Given the description of an element on the screen output the (x, y) to click on. 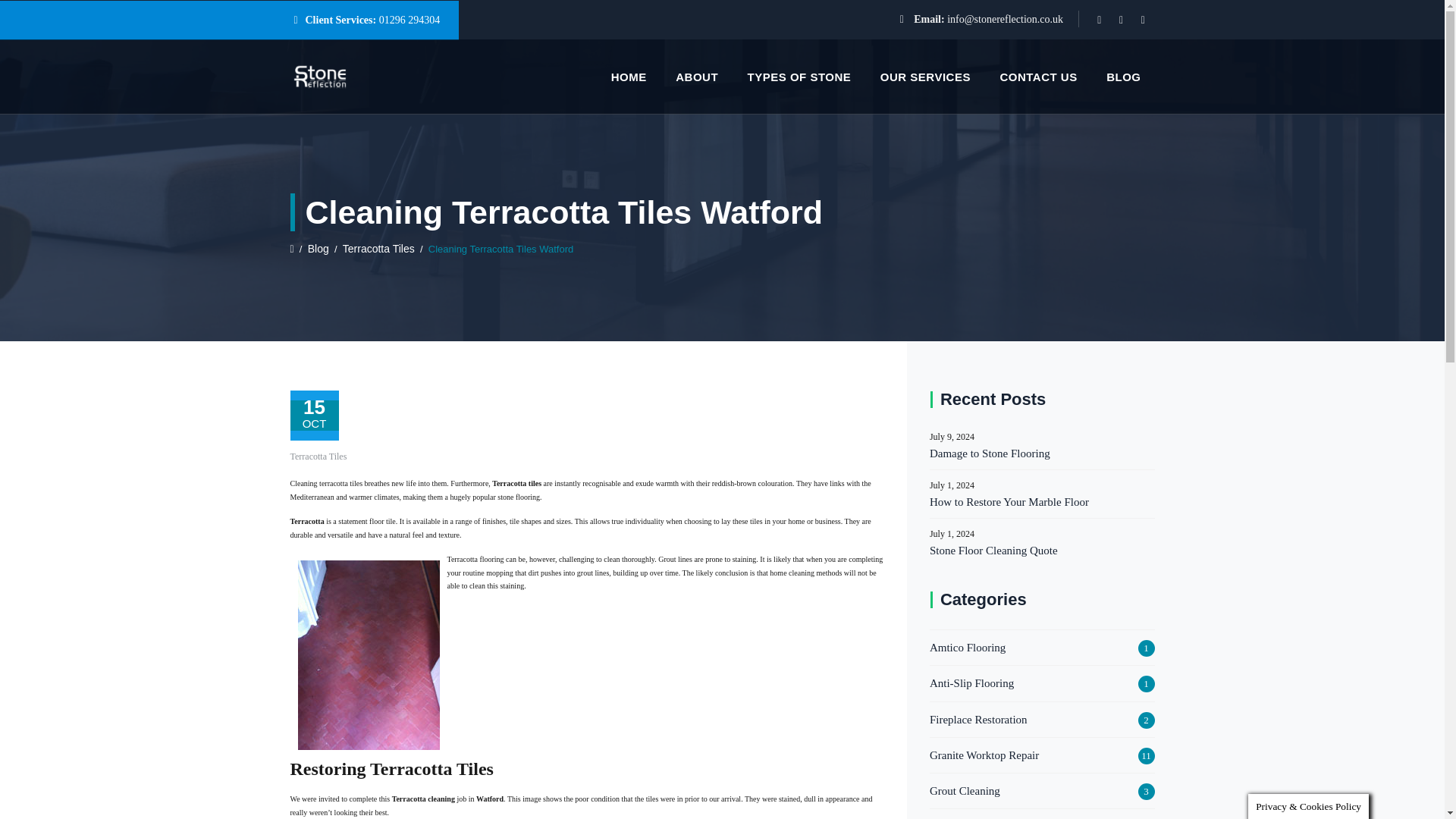
Fireplace Restoration (978, 719)
HOME (628, 76)
How to Restore Your Marble Floor (1042, 501)
Go to Blog. (318, 248)
Grout Cleaning (965, 790)
CONTACT US (1037, 76)
Amtico Flooring (968, 647)
BLOG (1123, 76)
ABOUT (697, 76)
Stone Floor Cleaning Quote (1042, 550)
Limestone Tiles (966, 817)
Go to the Terracotta Tiles Category archives. (378, 248)
Terracotta Tiles (317, 456)
Damage to Stone Flooring (1042, 453)
Anti-Slip Flooring (971, 682)
